Given the description of an element on the screen output the (x, y) to click on. 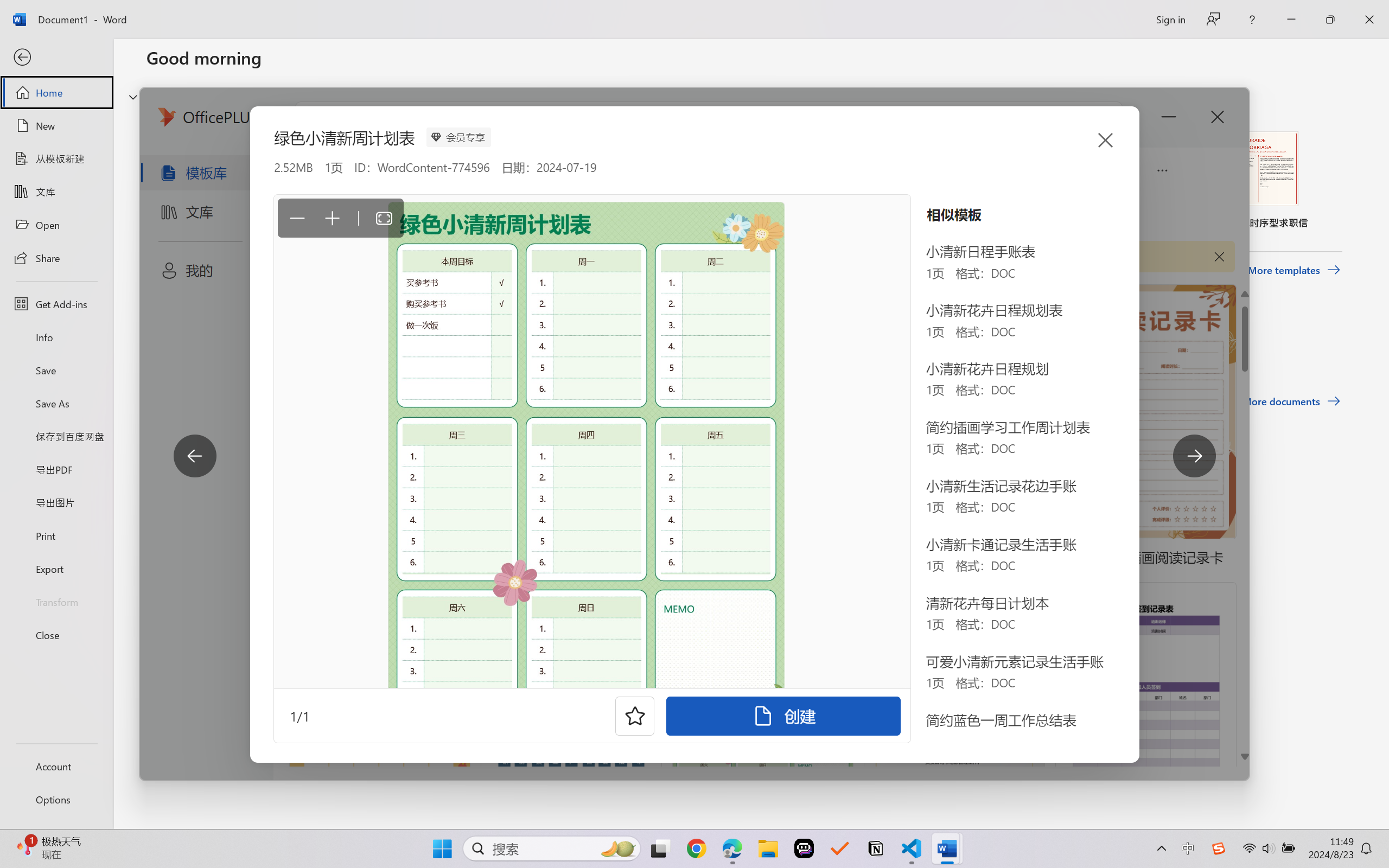
Options (56, 798)
Shared with Me (305, 345)
Transform (56, 601)
Recent (171, 345)
More documents (1290, 401)
Save As (56, 403)
Hide or show region (133, 96)
